Given the description of an element on the screen output the (x, y) to click on. 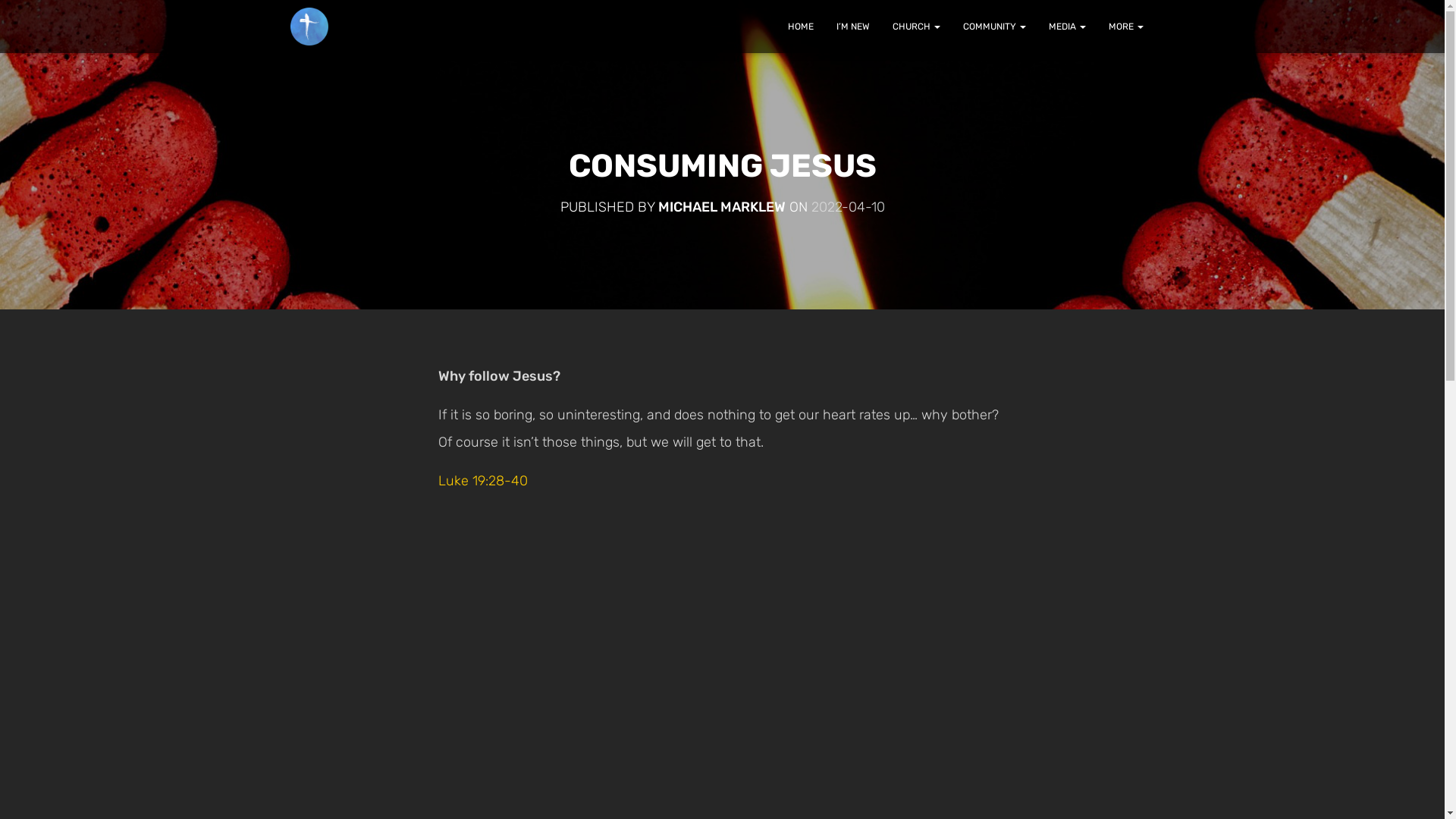
MORE Element type: text (1125, 26)
HOME Element type: text (800, 26)
MICHAEL MARKLEW Element type: text (721, 206)
COMMUNITY Element type: text (993, 26)
Luke 19:28-40 Element type: text (482, 480)
CHURCH Element type: text (916, 26)
Stockton Anglican Element type: hover (309, 26)
MEDIA Element type: text (1067, 26)
